Given the description of an element on the screen output the (x, y) to click on. 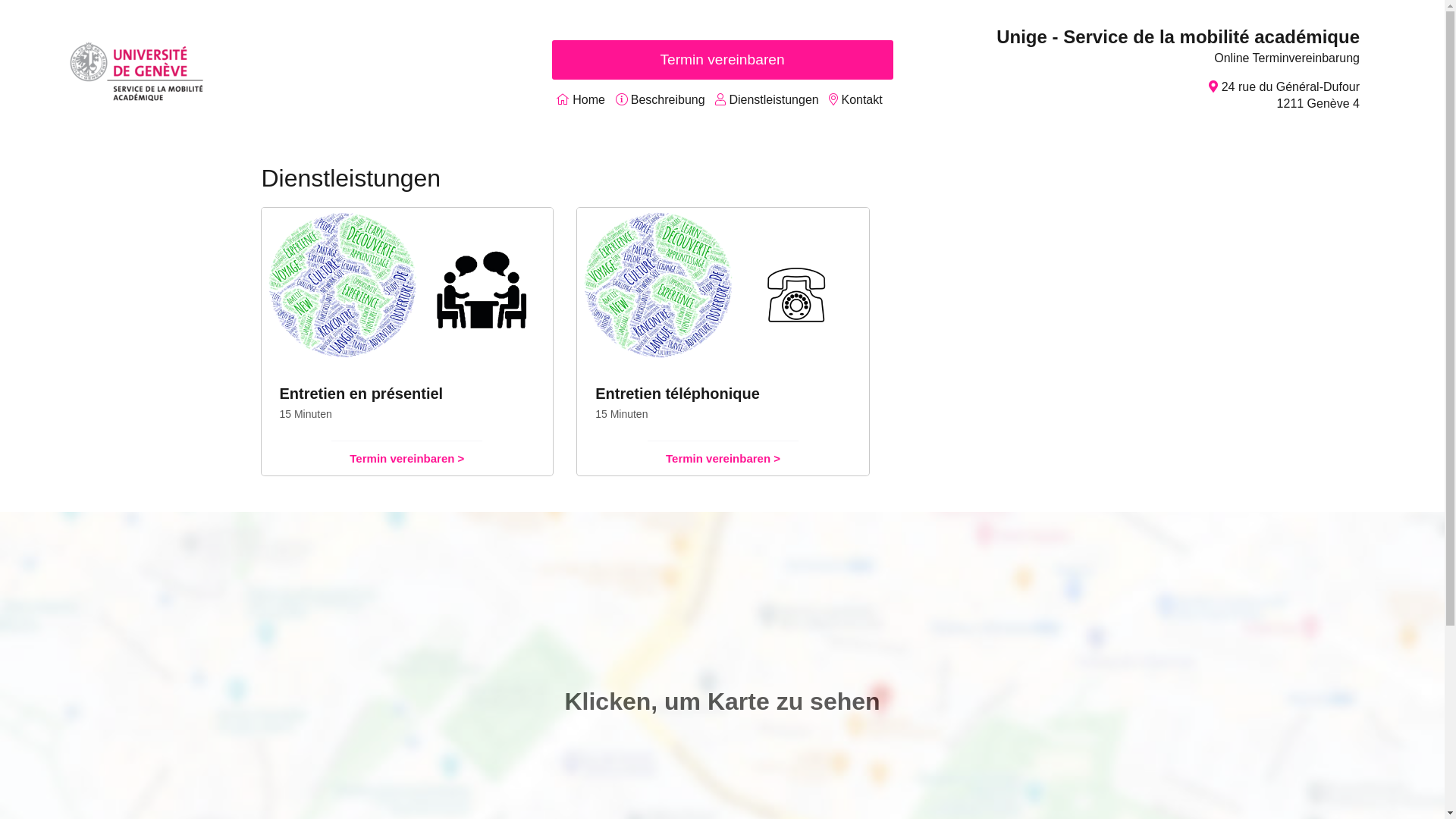
Dienstleistungen Element type: text (773, 99)
Termin vereinbaren Element type: text (722, 59)
Kontakt Element type: text (860, 99)
Beschreibung Element type: text (667, 99)
Home Element type: text (588, 99)
